Given the description of an element on the screen output the (x, y) to click on. 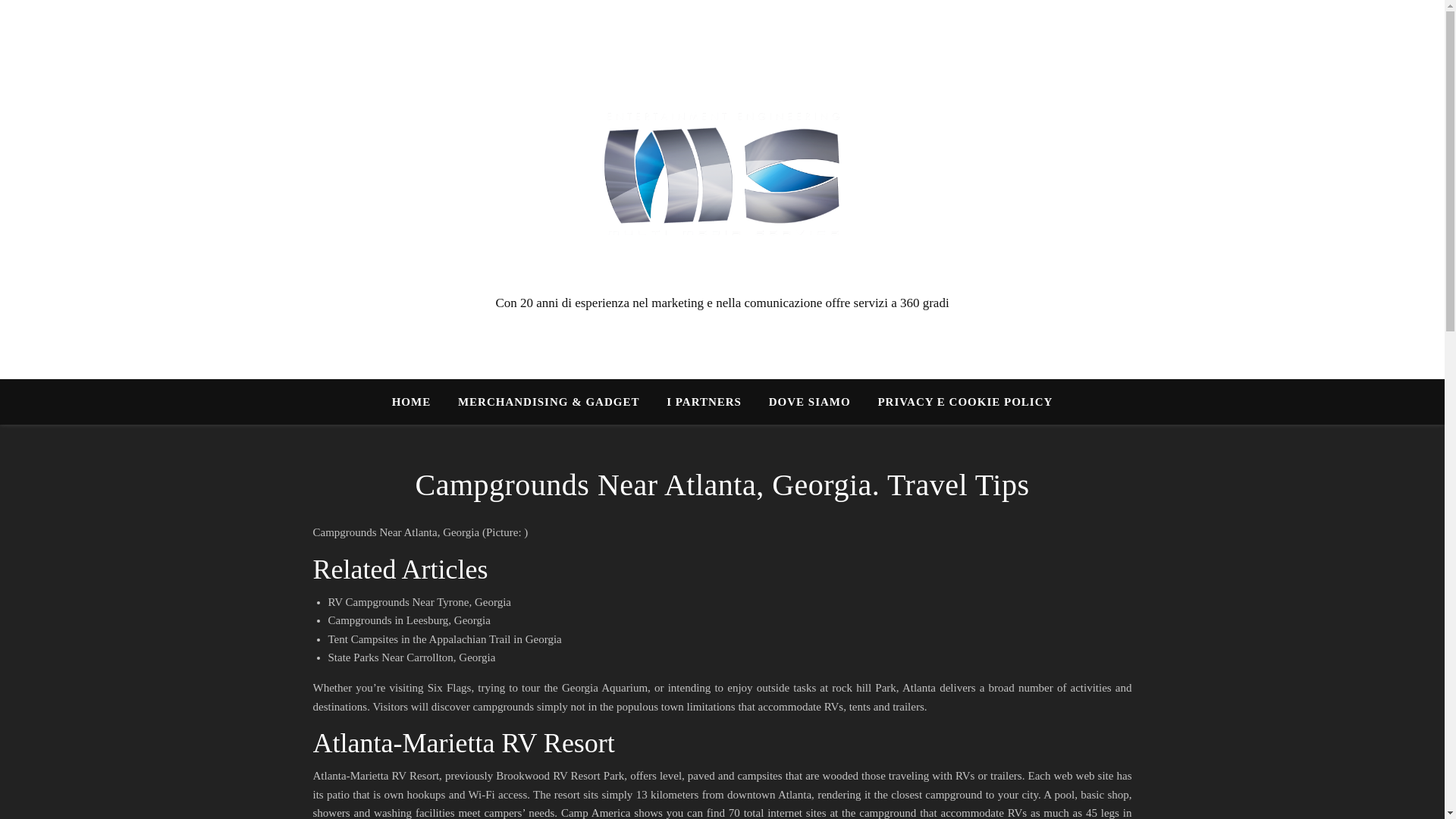
HOME (417, 402)
DOVE SIAMO (810, 402)
PRIVACY E COOKIE POLICY (958, 402)
I PARTNERS (703, 402)
Multi Media Service (721, 175)
